Given the description of an element on the screen output the (x, y) to click on. 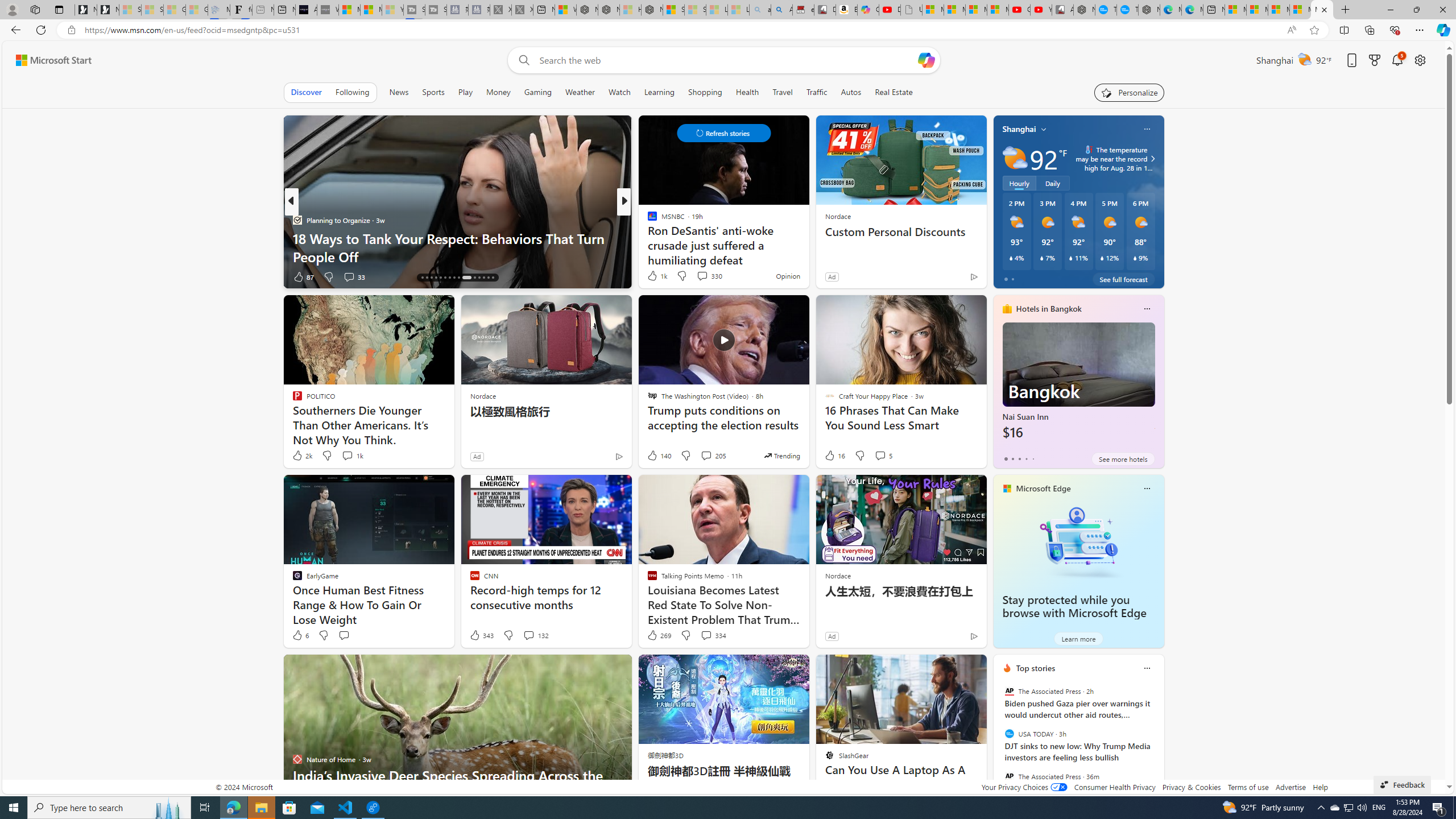
Planning to Organize (296, 219)
View comments 205 Comment (712, 455)
Top stories (1035, 668)
AutomationID: tab-22 (449, 277)
View comments 152 Comment (6, 276)
Microsoft account | Privacy (1300, 9)
AutomationID: tab-16 (422, 277)
View comments 5 Comment (882, 455)
Skip to content (49, 59)
Custom Personal Discounts (900, 232)
Shopping (705, 92)
View site information (70, 29)
